Given the description of an element on the screen output the (x, y) to click on. 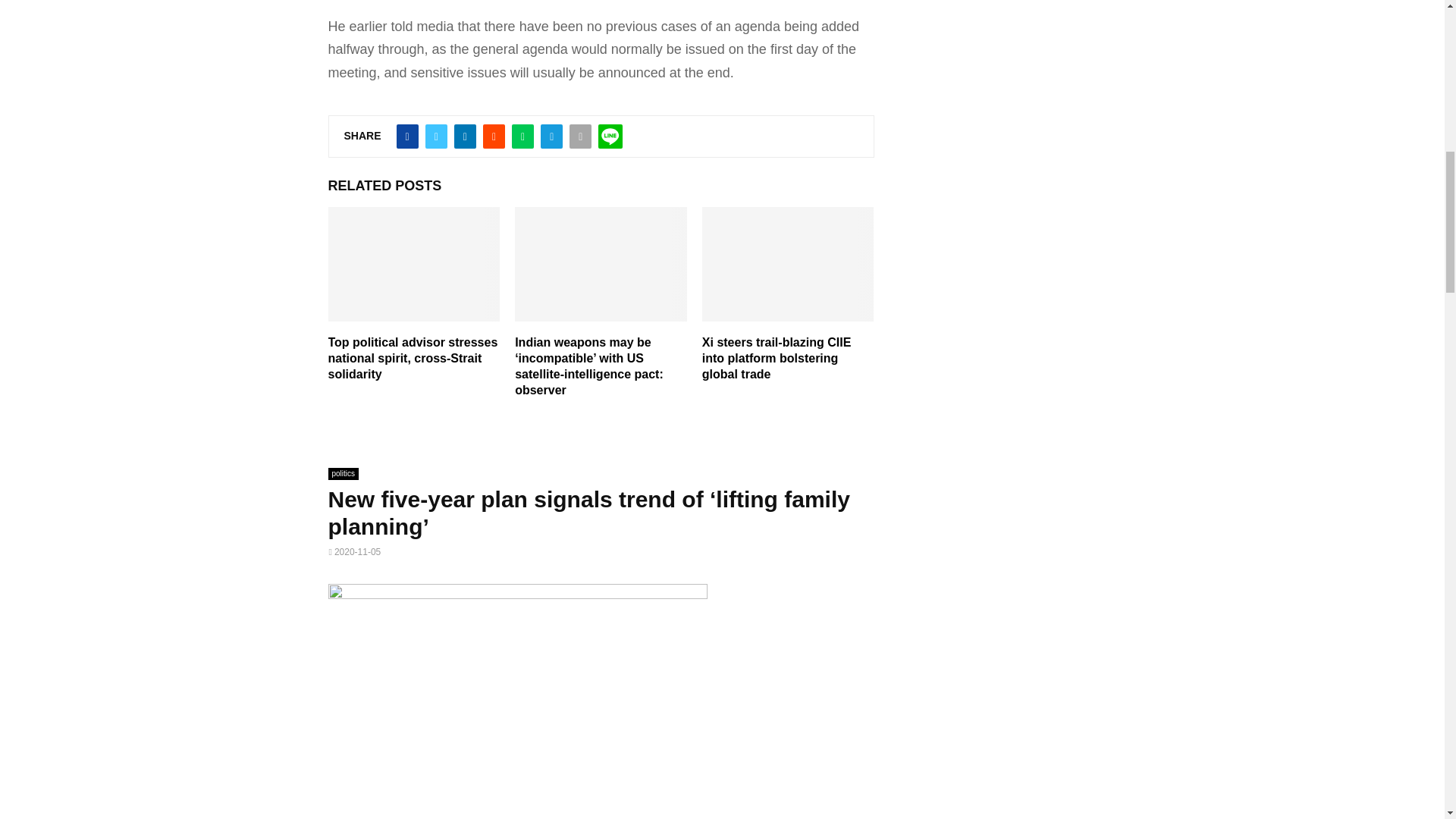
politics (342, 473)
